Given the description of an element on the screen output the (x, y) to click on. 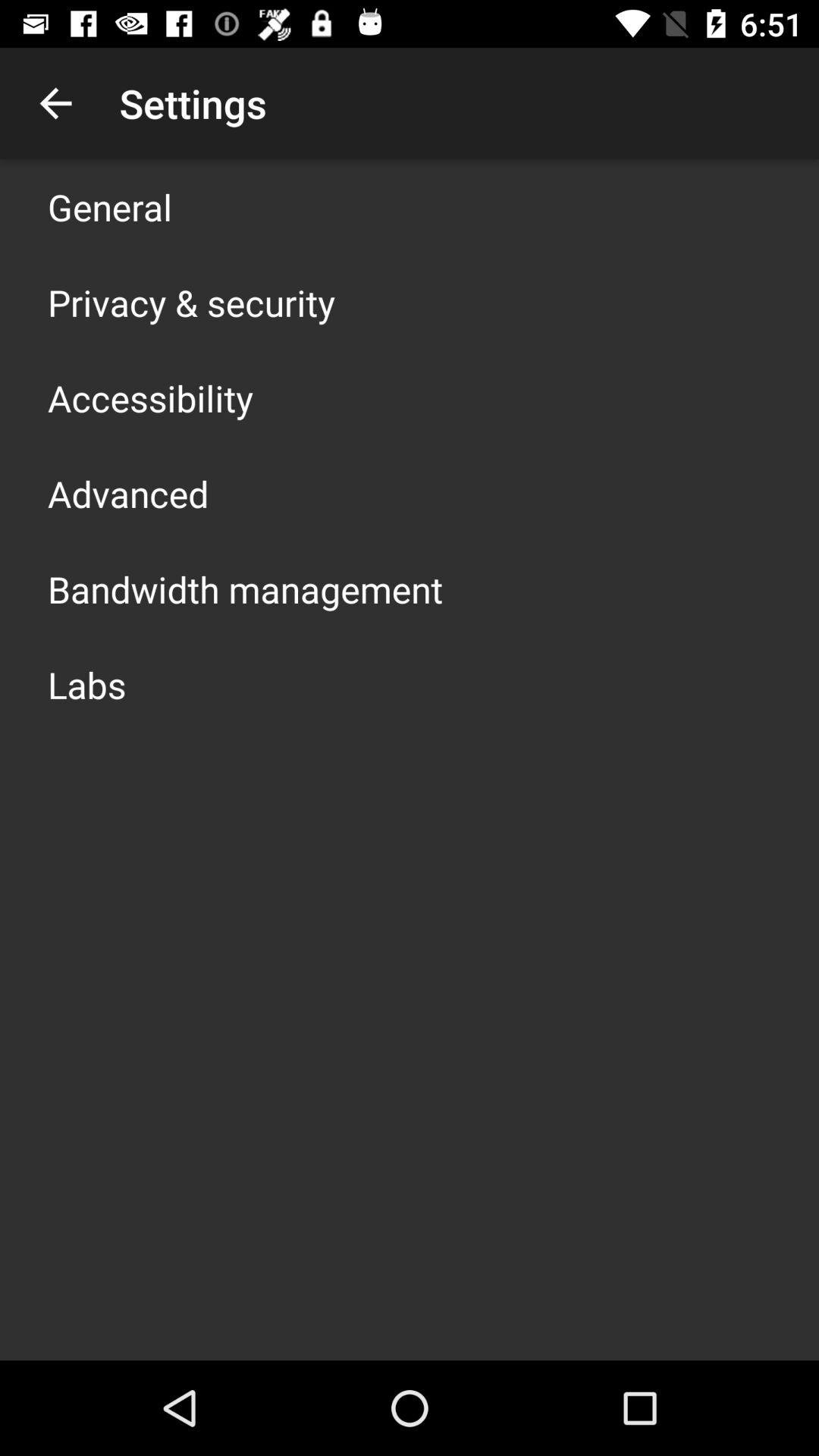
select the icon below bandwidth management app (86, 684)
